Given the description of an element on the screen output the (x, y) to click on. 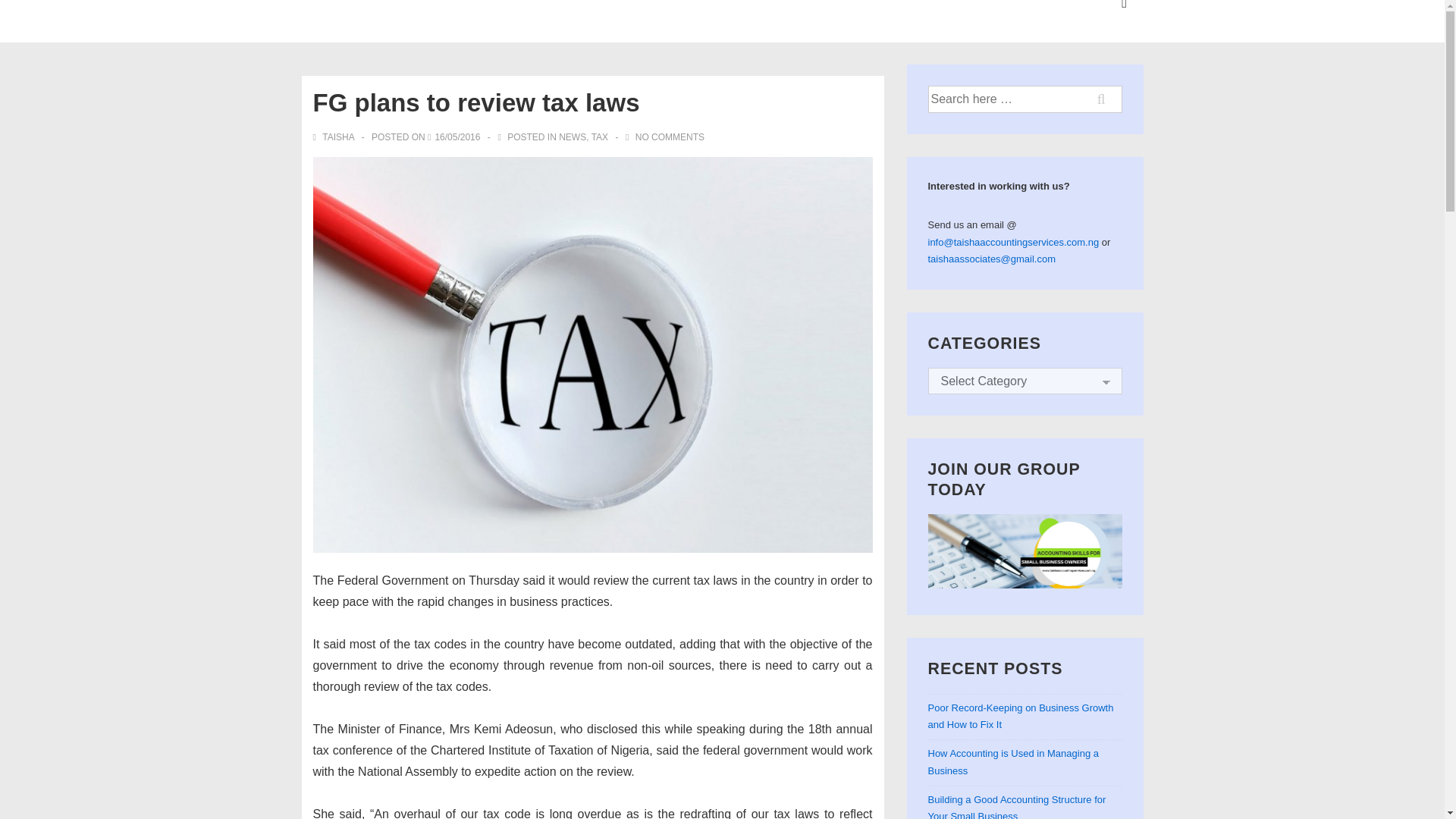
Poor Record-Keeping on Business Growth and How to Fix It (1020, 716)
View all posts by Taisha (334, 136)
NEWS (572, 136)
NO COMMENTS (669, 136)
TAX (599, 136)
TAISHA (334, 136)
FG plans to review tax laws (456, 136)
How Accounting is Used in Managing a Business (1013, 761)
Building a Good Accounting Structure for Your Small Business (1017, 806)
